Given the description of an element on the screen output the (x, y) to click on. 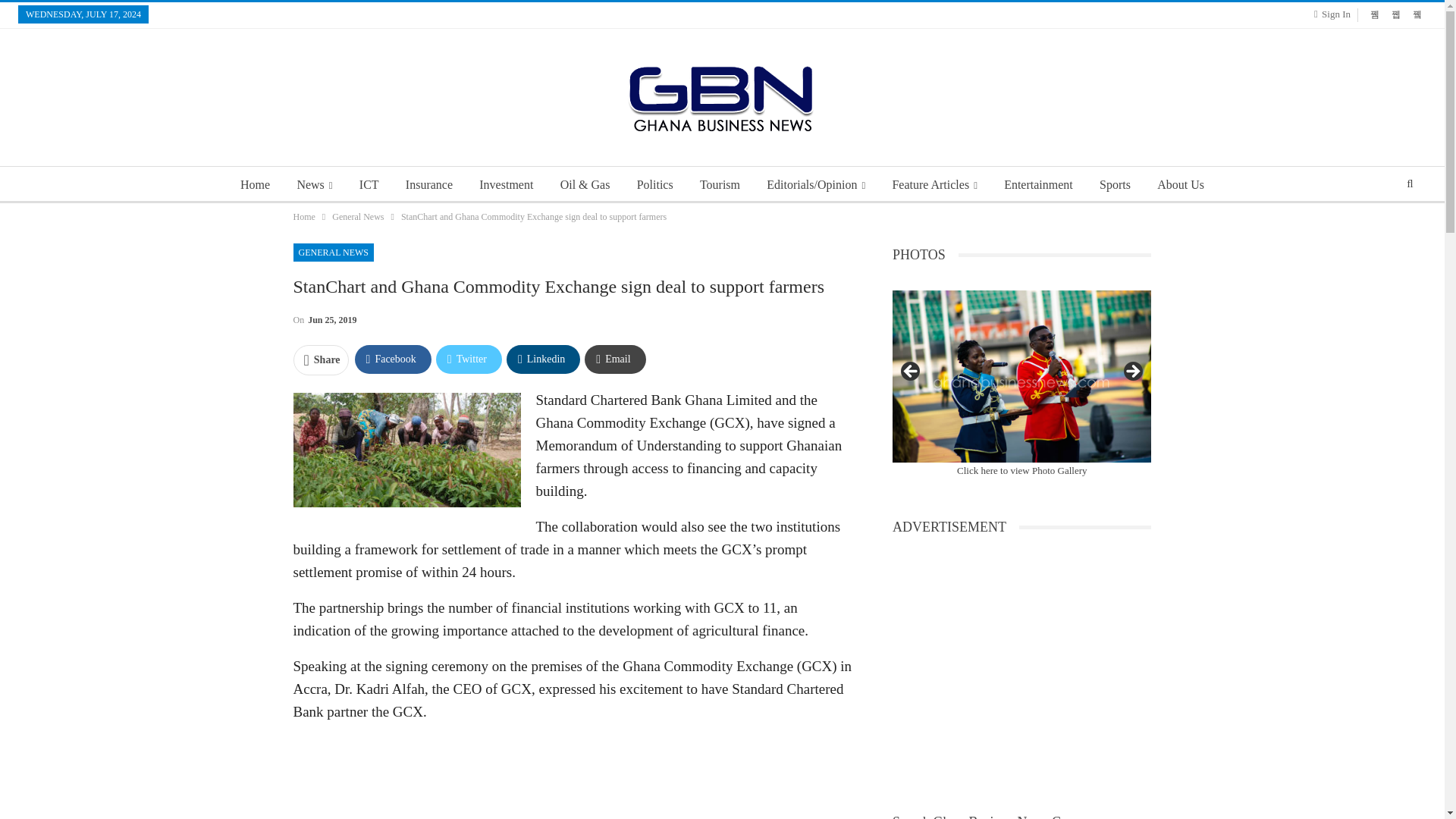
GENERAL NEWS (333, 252)
Insurance (428, 185)
Linkedin (542, 358)
News (313, 185)
Politics (654, 185)
Tourism (719, 185)
Home (255, 185)
ICT (369, 185)
Feature Articles (934, 185)
Twitter (468, 358)
Sign In (1335, 13)
Sports (1115, 185)
Email (615, 358)
About Us (1180, 185)
Investment (505, 185)
